Given the description of an element on the screen output the (x, y) to click on. 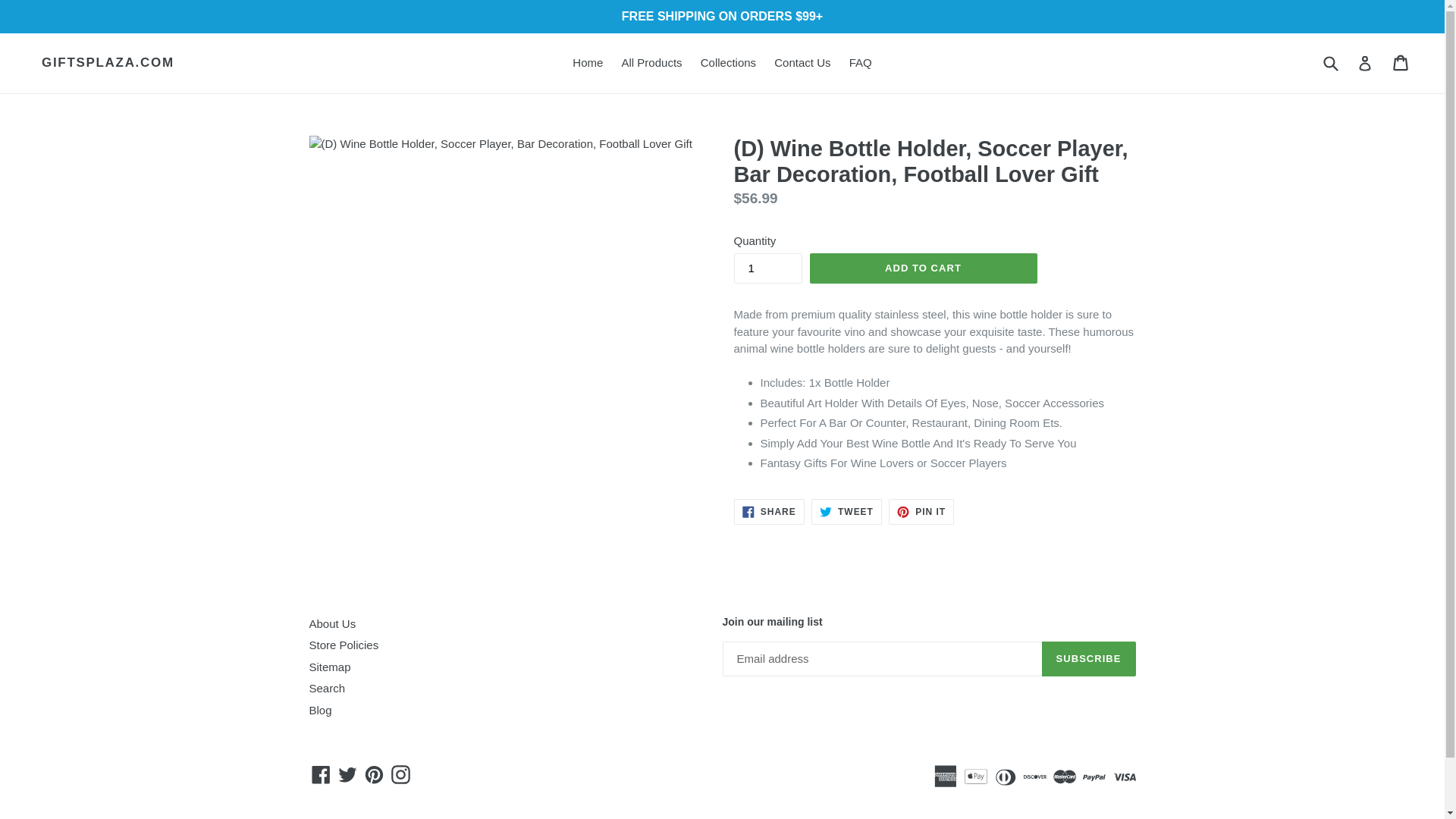
Pin on Pinterest (920, 511)
Tweet on Twitter (846, 511)
Pinterest (373, 773)
Submit (1329, 62)
Contact Us (802, 63)
Facebook (920, 511)
Store Policies (320, 773)
SUBSCRIBE (343, 644)
Log in (1088, 658)
FAQ (1364, 62)
GIFTSPLAZA.COM on Pinterest (860, 63)
Instagram (373, 773)
GIFTSPLAZA.COM on Facebook (400, 773)
GIFTSPLAZA.COM on Twitter (320, 773)
